Given the description of an element on the screen output the (x, y) to click on. 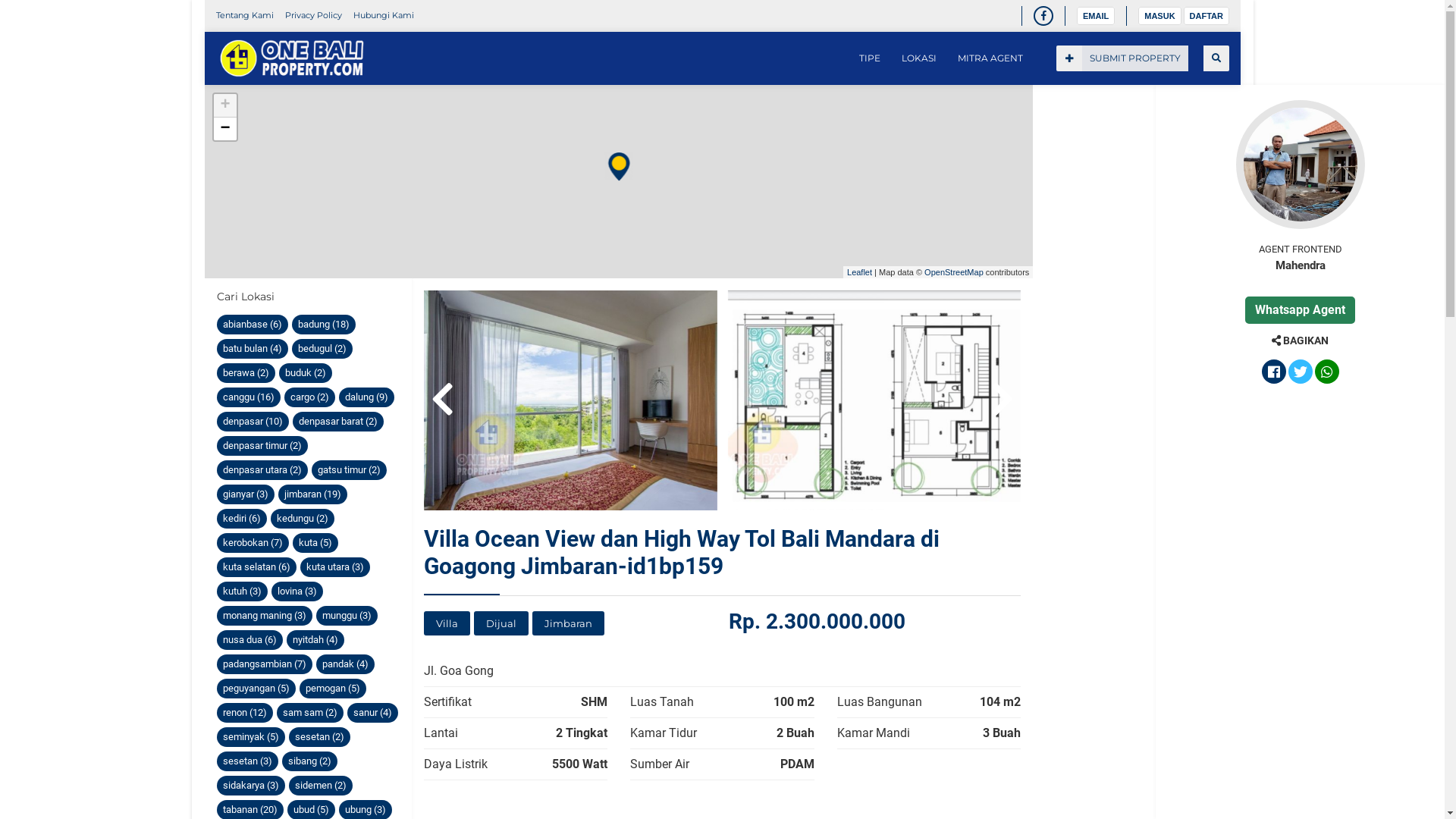
OpenStreetMap Element type: text (953, 271)
kedungu (2) Element type: text (301, 518)
kerobokan (7) Element type: text (252, 542)
sesetan (3) Element type: text (247, 761)
pandak (4) Element type: text (344, 664)
Hubungi Kami Element type: text (383, 14)
cargo (2) Element type: text (308, 397)
sibang (2) Element type: text (309, 761)
monang maning (3) Element type: text (264, 615)
bedugul (2) Element type: text (321, 348)
MITRA AGENT Element type: text (989, 57)
MASUK Element type: text (1159, 15)
denpasar utara (2) Element type: text (261, 470)
buduk (2) Element type: text (305, 372)
lovina (3) Element type: text (297, 591)
munggu (3) Element type: text (345, 615)
abianbase (6) Element type: text (252, 324)
EMAIL Element type: text (1095, 15)
Bagikan ke Whatsapp Element type: hover (1326, 373)
DAFTAR Element type: text (1205, 15)
sanur (4) Element type: text (372, 712)
nusa dua (6) Element type: text (249, 639)
sidemen (2) Element type: text (319, 785)
Bagikan ke Twitter Element type: hover (1299, 373)
Bagikan ke Facebook Element type: hover (1273, 373)
Tentang Kami Element type: text (244, 14)
renon (12) Element type: text (244, 712)
kediri (6) Element type: text (241, 518)
kuta utara (3) Element type: text (335, 567)
sesetan (2) Element type: text (318, 736)
LOKASI Element type: text (918, 57)
jimbaran (19) Element type: text (311, 494)
sidakarya (3) Element type: text (250, 785)
+ Element type: text (224, 105)
gatsu timur (2) Element type: text (347, 470)
dalung (9) Element type: text (365, 397)
Whatsapp Agent Element type: text (1300, 309)
canggu (16) Element type: text (248, 397)
kutuh (3) Element type: text (241, 591)
kuta selatan (6) Element type: text (256, 567)
denpasar timur (2) Element type: text (261, 445)
padangsambian (7) Element type: text (264, 664)
berawa (2) Element type: text (245, 372)
kuta (5) Element type: text (315, 542)
Privacy Policy Element type: text (313, 14)
denpasar (10) Element type: text (252, 421)
peguyangan (5) Element type: text (255, 688)
batu bulan (4) Element type: text (252, 348)
nyitdah (4) Element type: text (315, 639)
SUBMIT PROPERTY Element type: text (1121, 58)
seminyak (5) Element type: text (250, 736)
badung (18) Element type: text (322, 324)
pemogan (5) Element type: text (331, 688)
sam sam (2) Element type: text (309, 712)
TIPE Element type: text (868, 57)
denpasar barat (2) Element type: text (337, 421)
Leaflet Element type: text (859, 271)
gianyar (3) Element type: text (245, 494)
